Given the description of an element on the screen output the (x, y) to click on. 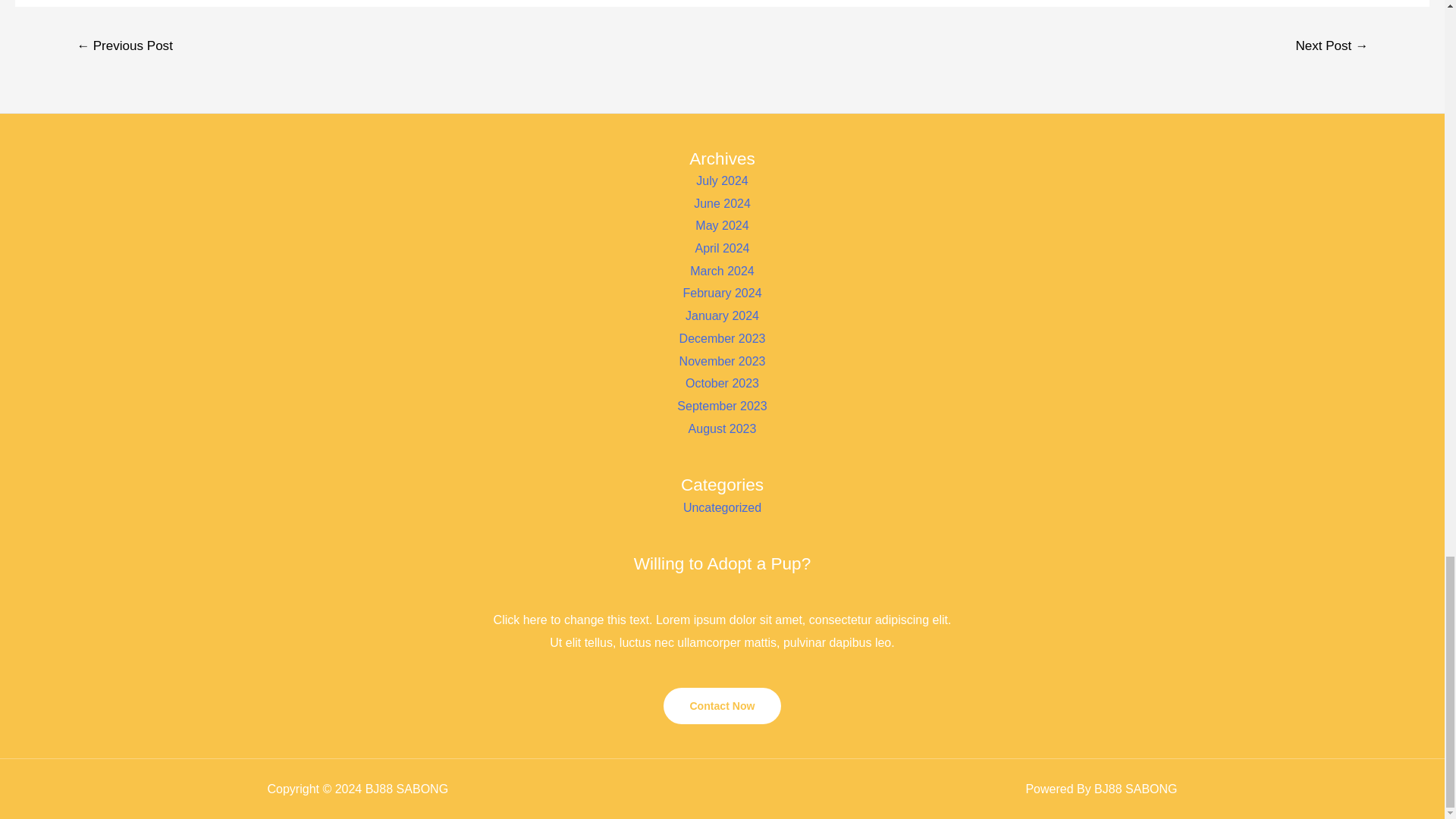
May 2024 (721, 225)
August 2023 (722, 428)
March 2024 (722, 270)
January 2024 (721, 315)
September 2023 (722, 405)
November 2023 (722, 360)
October 2023 (721, 382)
June 2024 (722, 203)
Contact Now (721, 705)
April 2024 (721, 247)
